Given the description of an element on the screen output the (x, y) to click on. 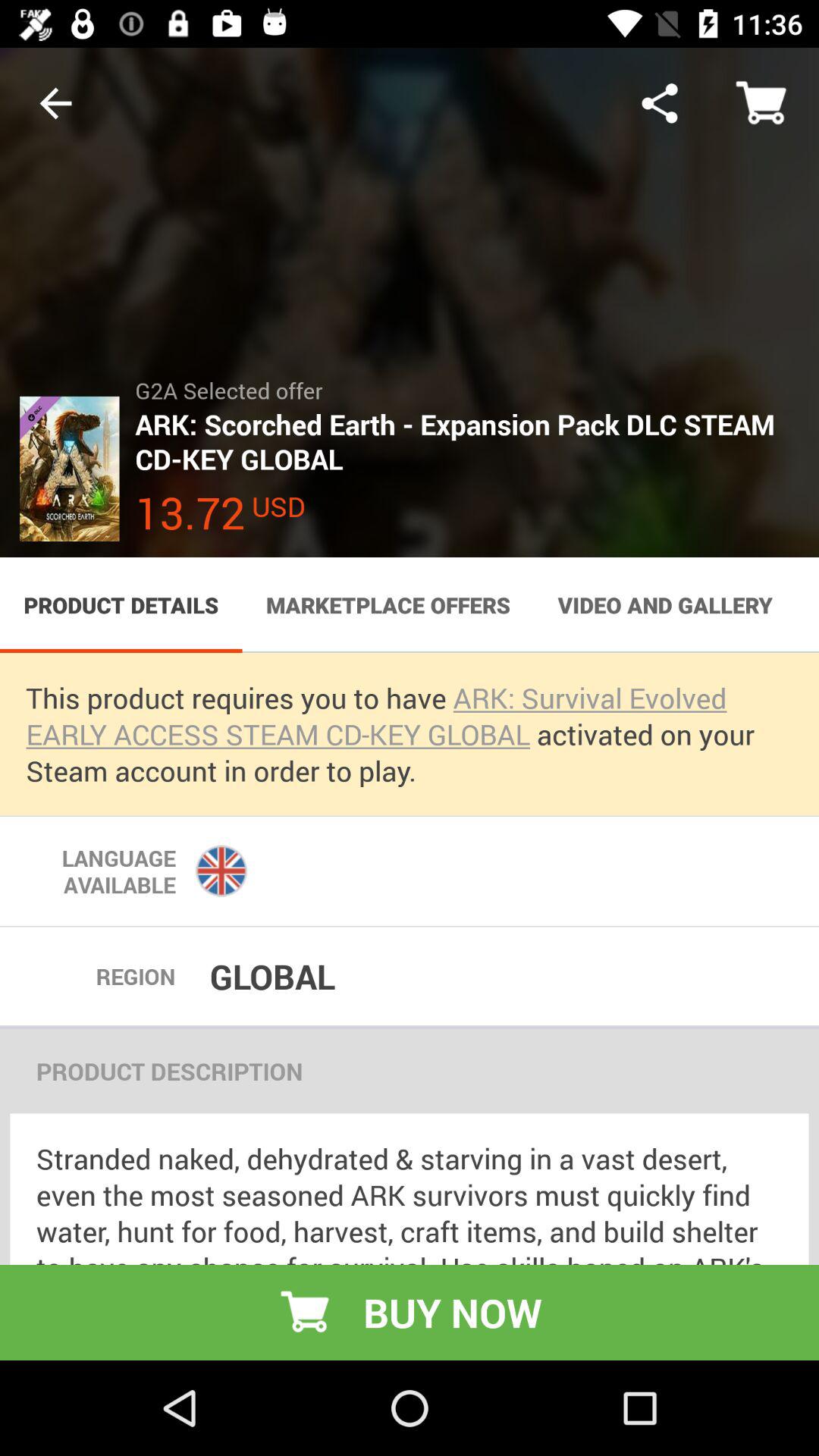
select the this product requires icon (409, 733)
